Given the description of an element on the screen output the (x, y) to click on. 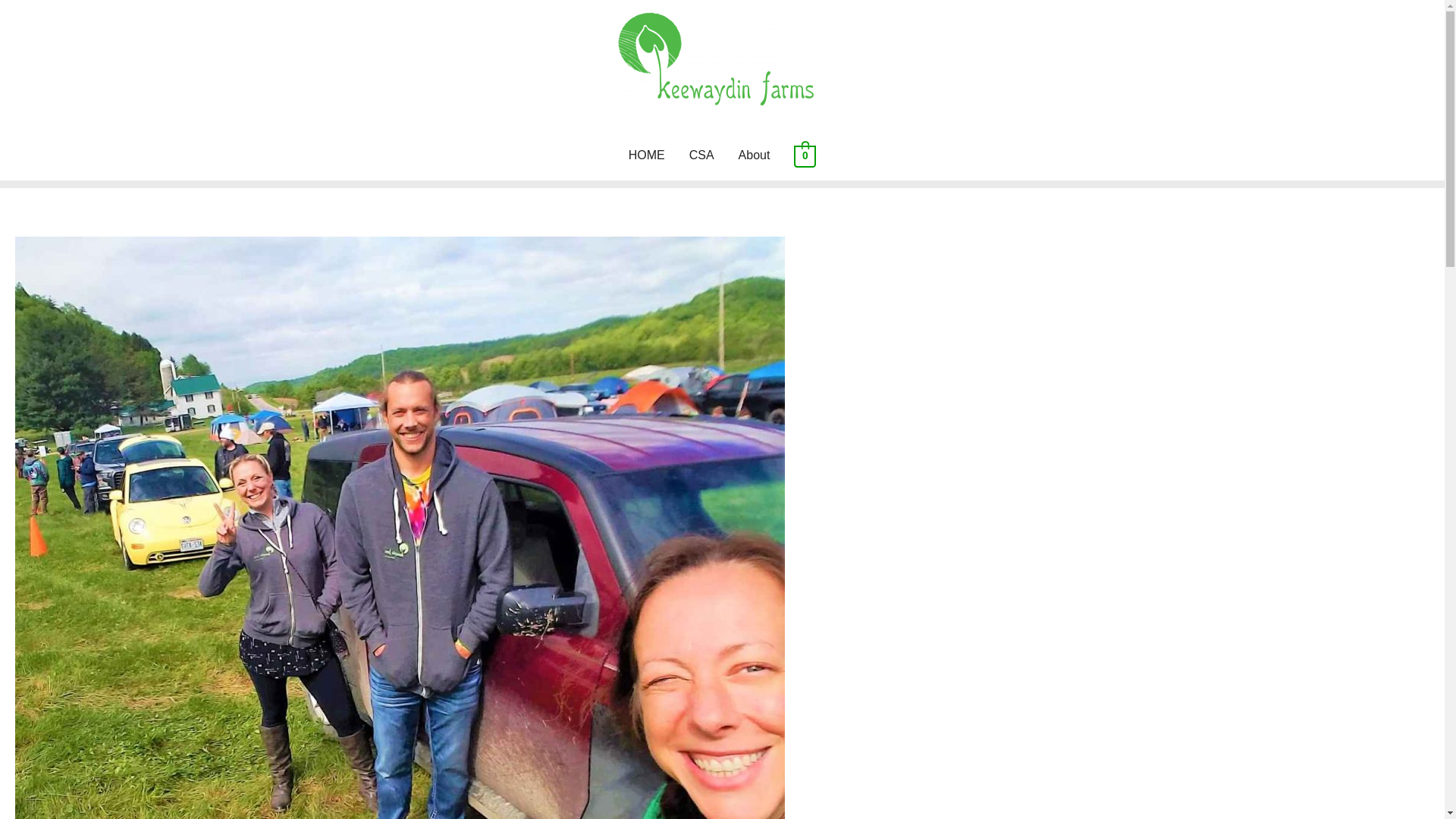
HOME (646, 155)
CSA (701, 155)
About (754, 155)
View your shopping cart (804, 155)
0 (804, 155)
